Given the description of an element on the screen output the (x, y) to click on. 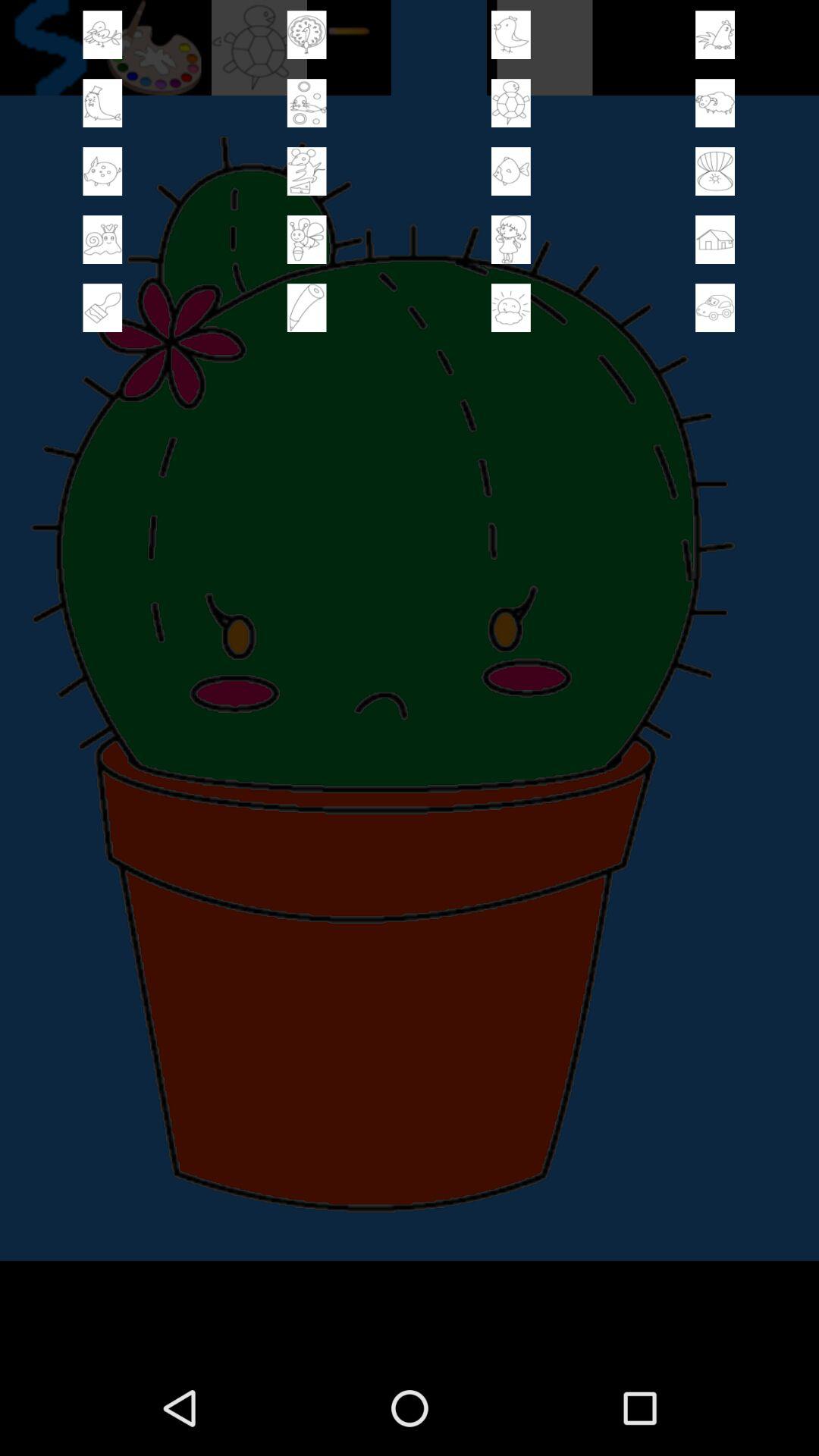
content selection (715, 239)
